Given the description of an element on the screen output the (x, y) to click on. 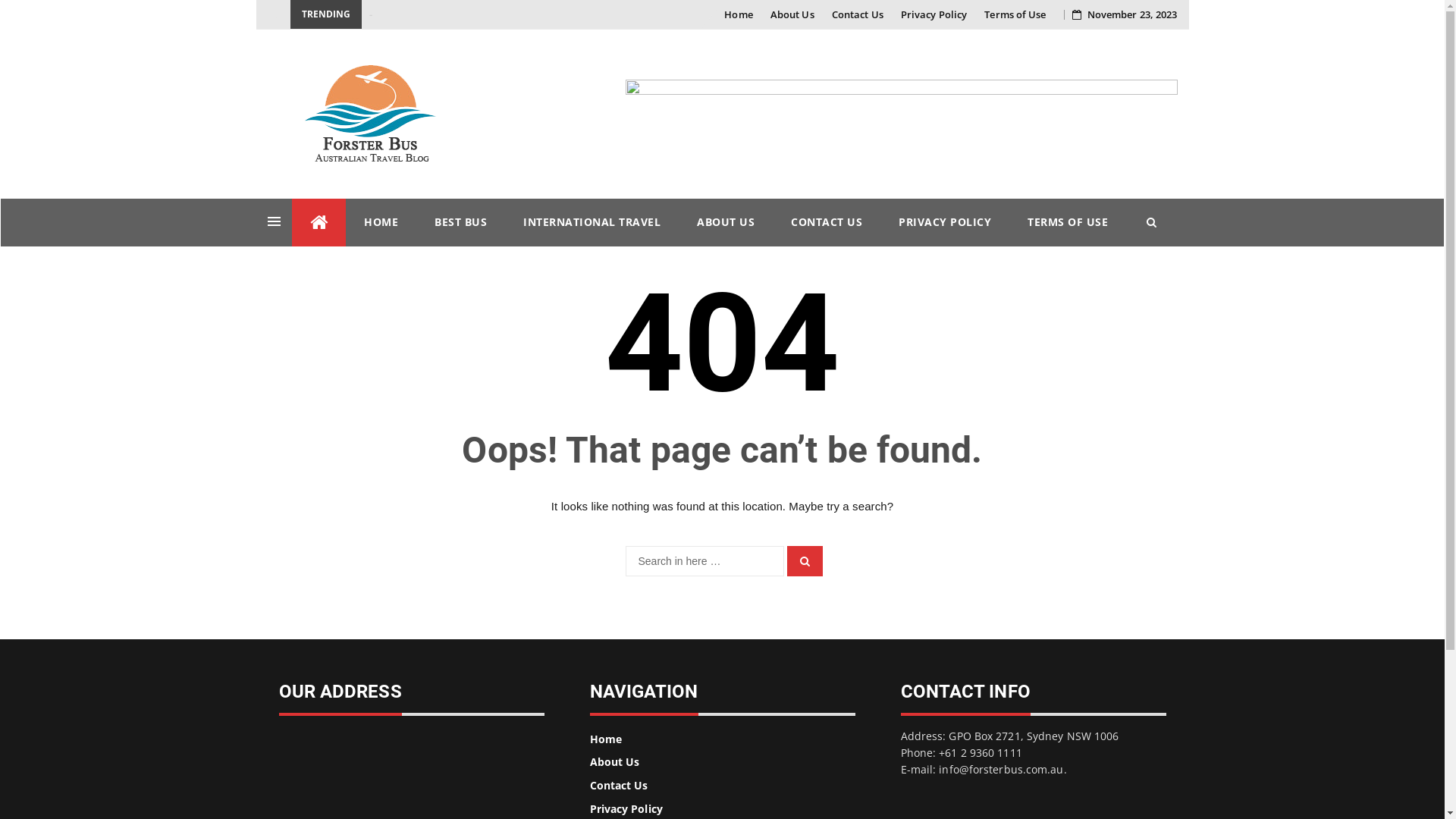
Search Element type: text (804, 561)
Contact Us Element type: text (857, 14)
About Us Element type: text (614, 761)
Top 10 Photo Spots For People Vacationing in Sydney Element type: text (484, 14)
Skip to content Element type: text (266, 197)
Terms of Use Element type: text (1014, 14)
About Us Element type: text (792, 14)
Privacy Policy Element type: text (625, 808)
HOME Element type: text (380, 221)
INTERNATIONAL TRAVEL Element type: text (591, 221)
Search for: Element type: hover (703, 561)
Home Element type: text (605, 738)
ABOUT US Element type: text (725, 221)
BEST BUS Element type: text (460, 221)
Home Element type: text (738, 14)
Forster Bus Element type: hover (318, 222)
Contact Us Element type: text (618, 785)
PRIVACY POLICY Element type: text (944, 221)
CONTACT US Element type: text (826, 221)
Privacy Policy Element type: text (933, 14)
TERMS OF USE Element type: text (1067, 221)
